Given the description of an element on the screen output the (x, y) to click on. 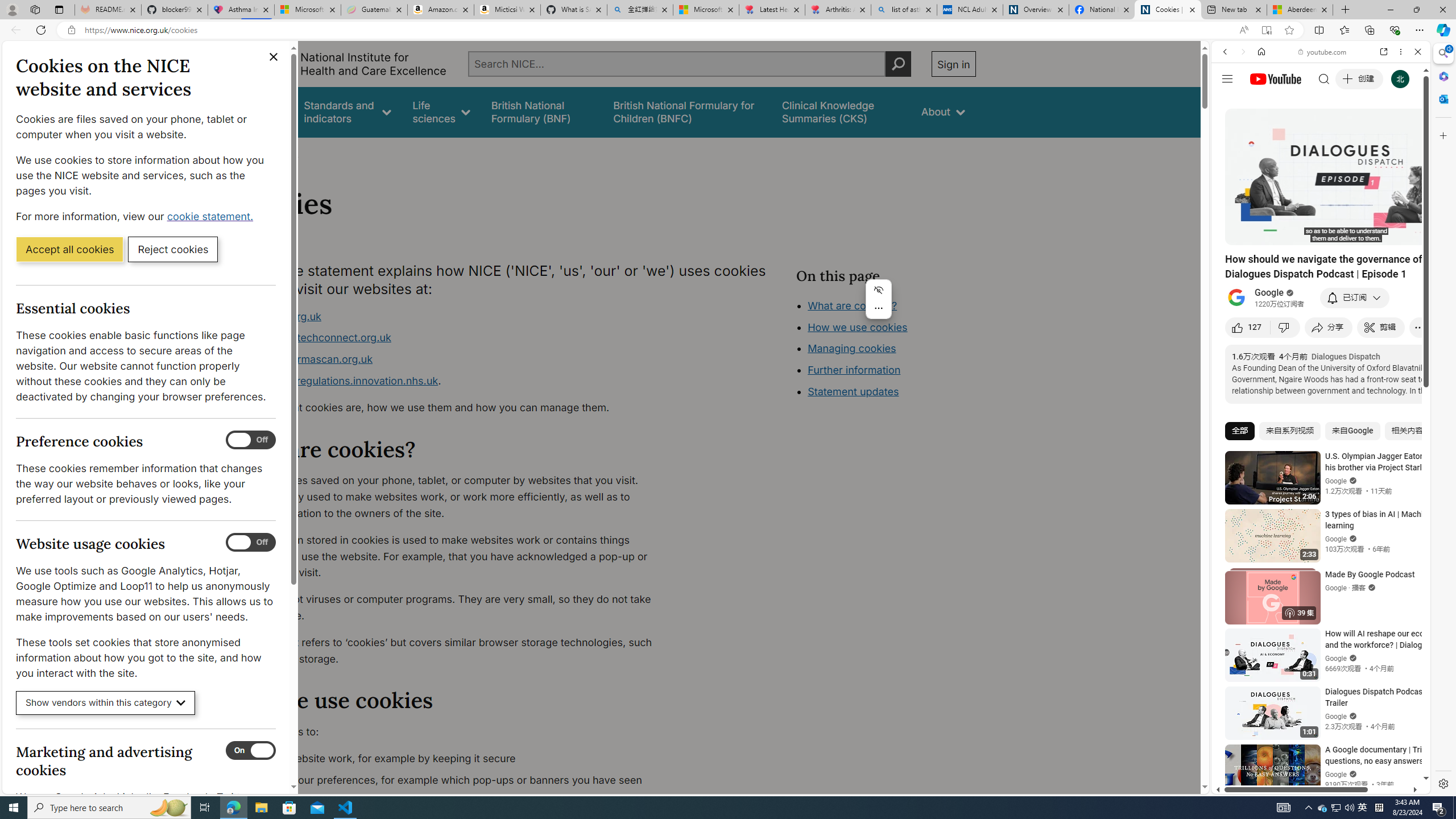
www.digitalregulations.innovation.nhs.uk. (452, 380)
YouTube - YouTube (1315, 560)
